Given the description of an element on the screen output the (x, y) to click on. 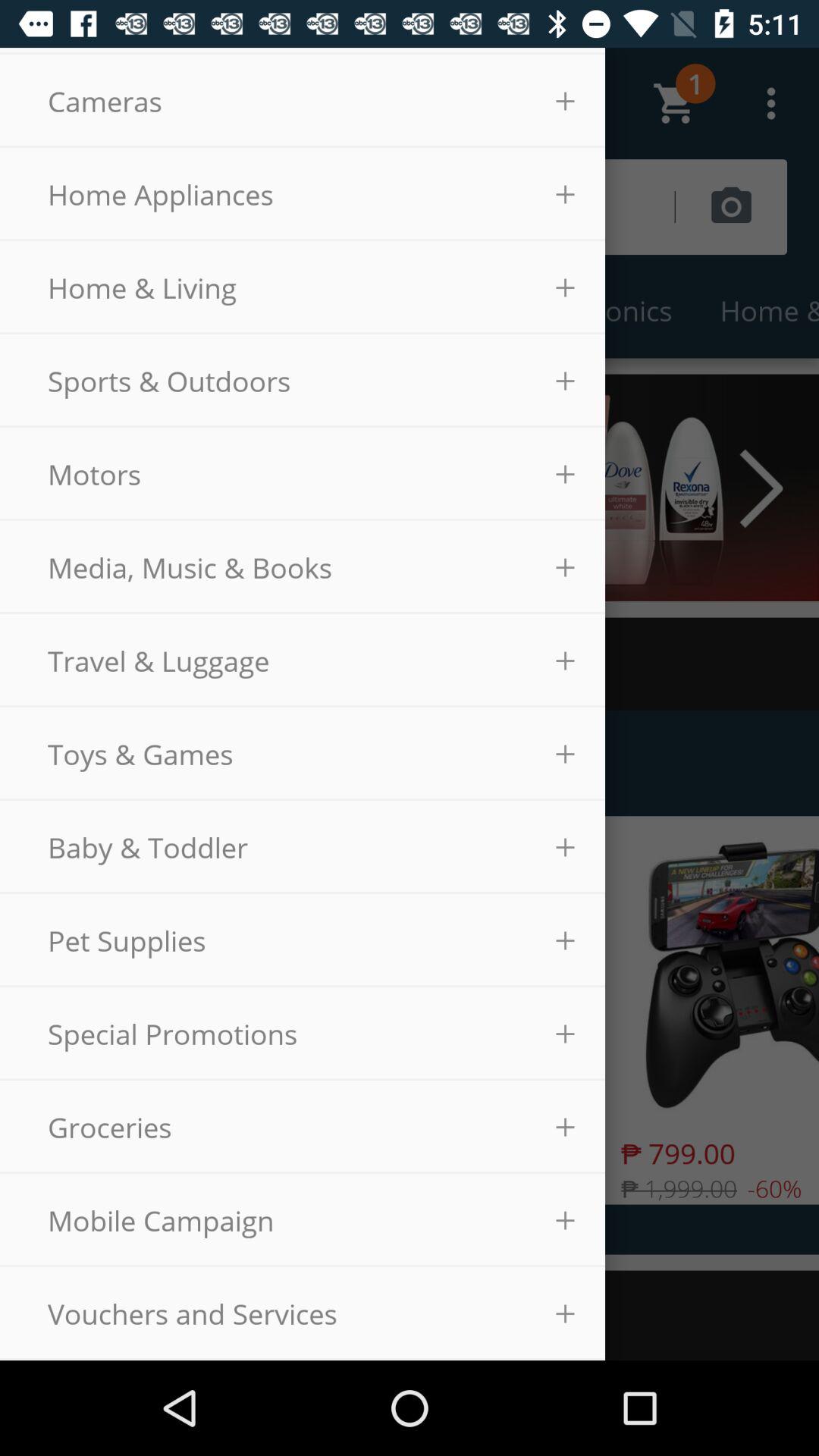
select the option beside pet supplies (565, 940)
click on plus icon right to travel  luggage (565, 660)
select the add option beside voucher and service (565, 1313)
select the plus symbol right to sports  outdoors (565, 381)
